Given the description of an element on the screen output the (x, y) to click on. 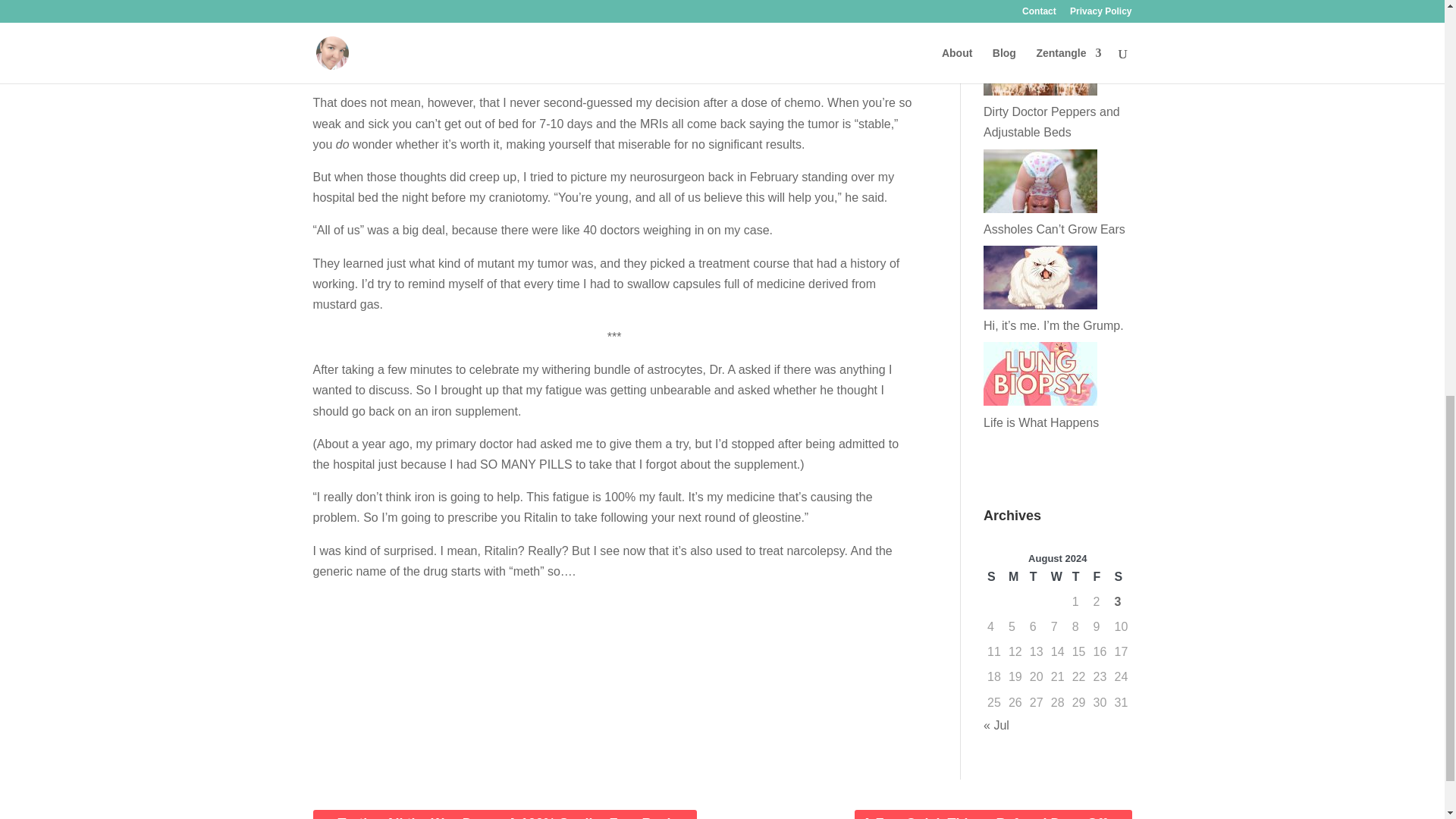
Life is What Happens (1041, 421)
Dirty Doctor Peppers and Adjustable Beds (1051, 121)
Lung Biopsy Pre-admission (1057, 15)
